Given the description of an element on the screen output the (x, y) to click on. 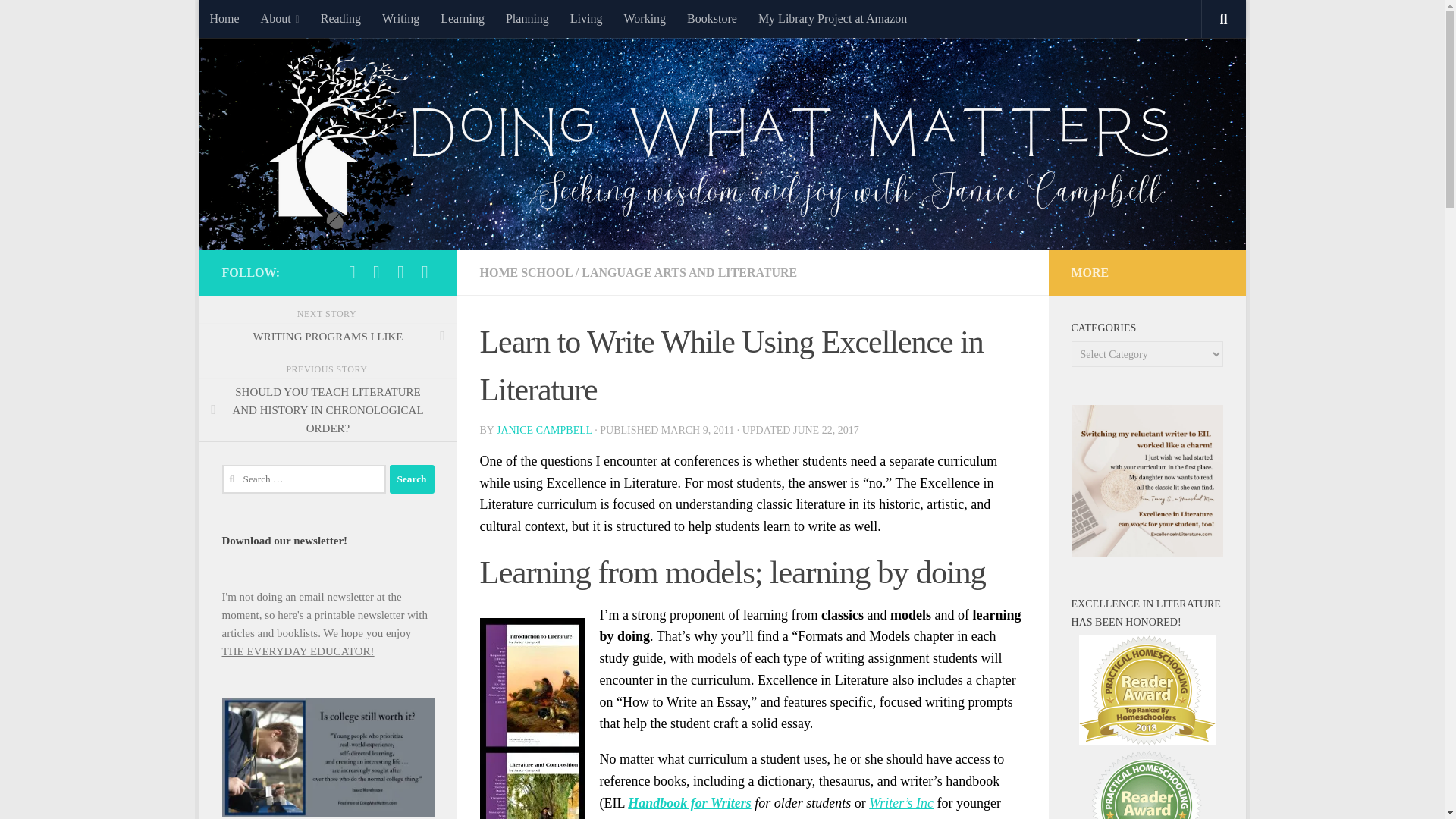
Skip to content (258, 20)
Working (644, 18)
About (280, 18)
Handbook for Writers (689, 802)
Writing (400, 18)
JANICE CAMPBELL (544, 430)
Bookstore (712, 18)
My Library Project at Amazon (832, 18)
Living (585, 18)
Search (411, 479)
